Given the description of an element on the screen output the (x, y) to click on. 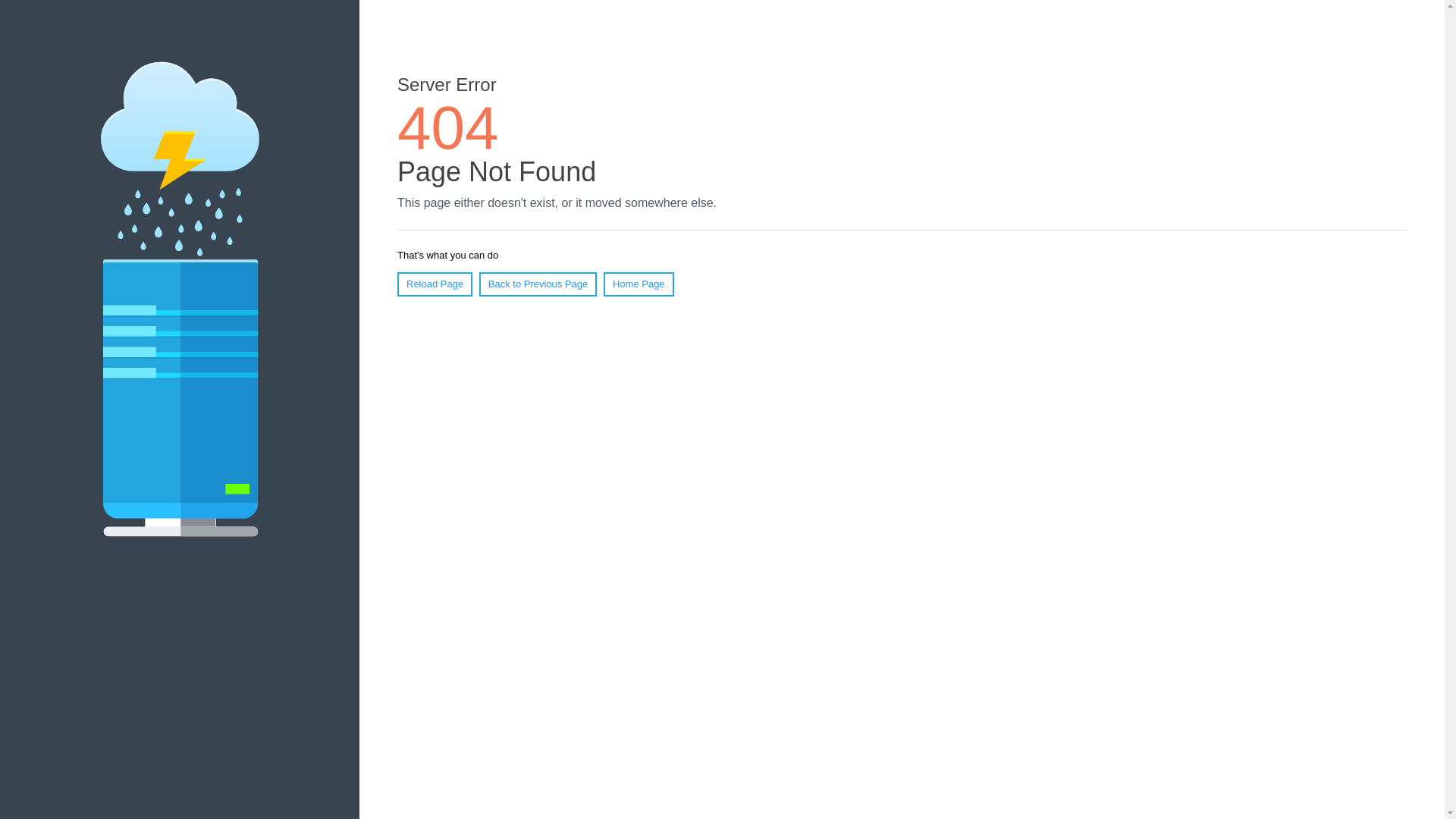
Reload Page (434, 283)
Back to Previous Page (537, 283)
Home Page (639, 283)
